Given the description of an element on the screen output the (x, y) to click on. 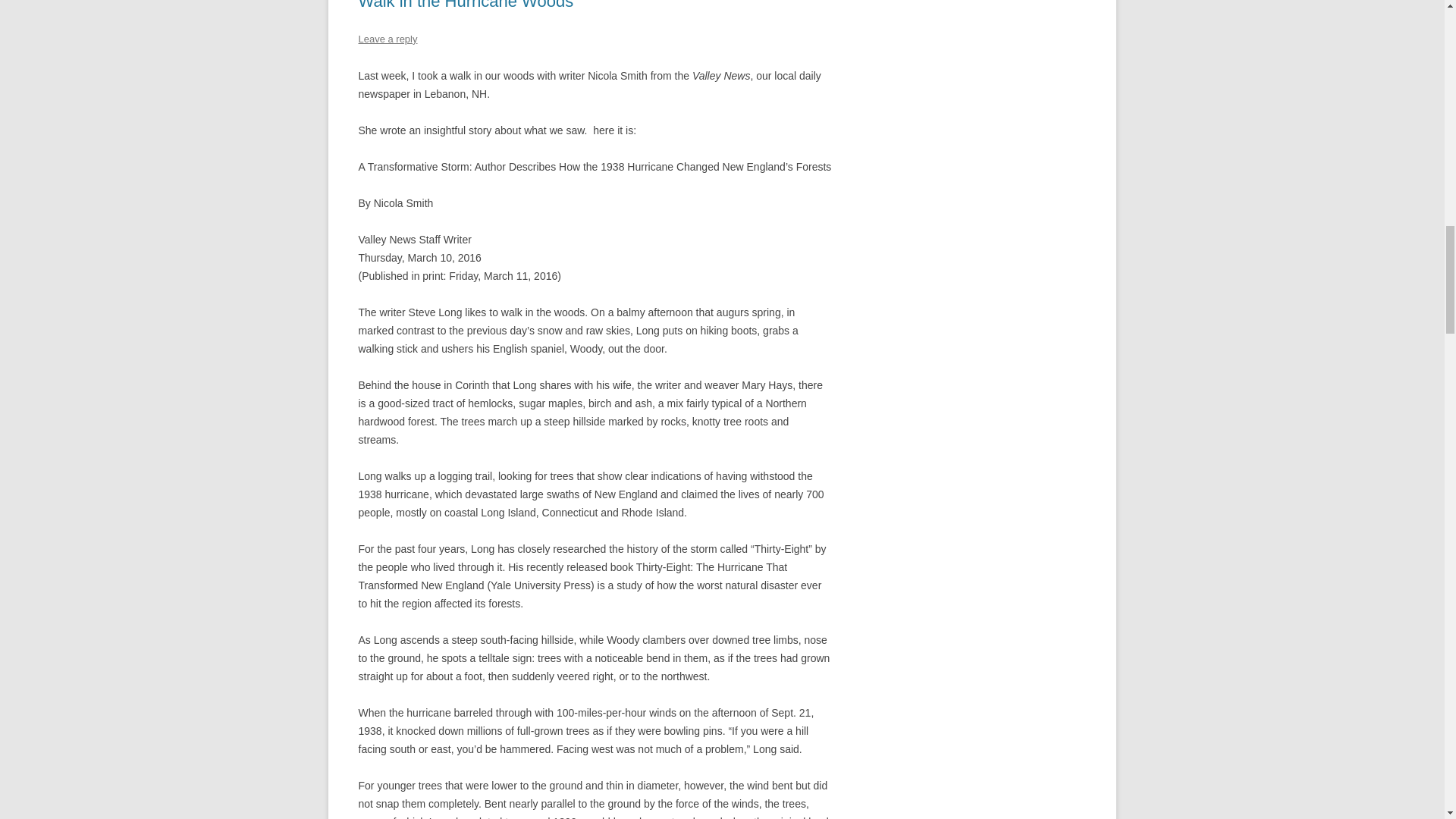
Walk in the Hurricane Woods (465, 5)
Leave a reply (387, 39)
